Given the description of an element on the screen output the (x, y) to click on. 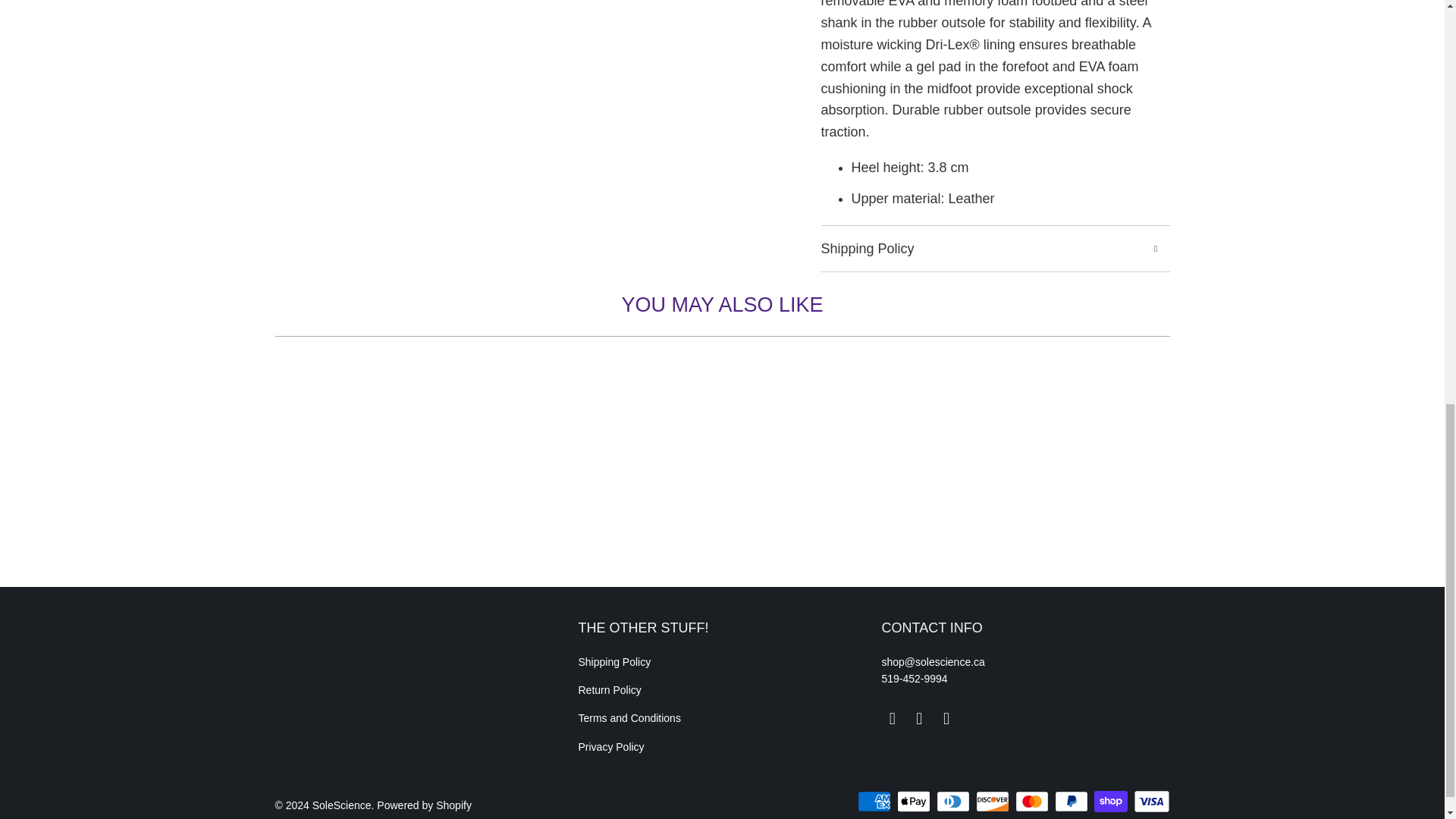
SoleScience on Instagram (947, 719)
Discover (993, 801)
PayPal (1072, 801)
Email SoleScience (892, 719)
American Express (875, 801)
Terms of Service (628, 717)
Privacy Policy (610, 746)
Apple Pay (914, 801)
SoleScience on Facebook (919, 719)
Return Policy (609, 689)
